Given the description of an element on the screen output the (x, y) to click on. 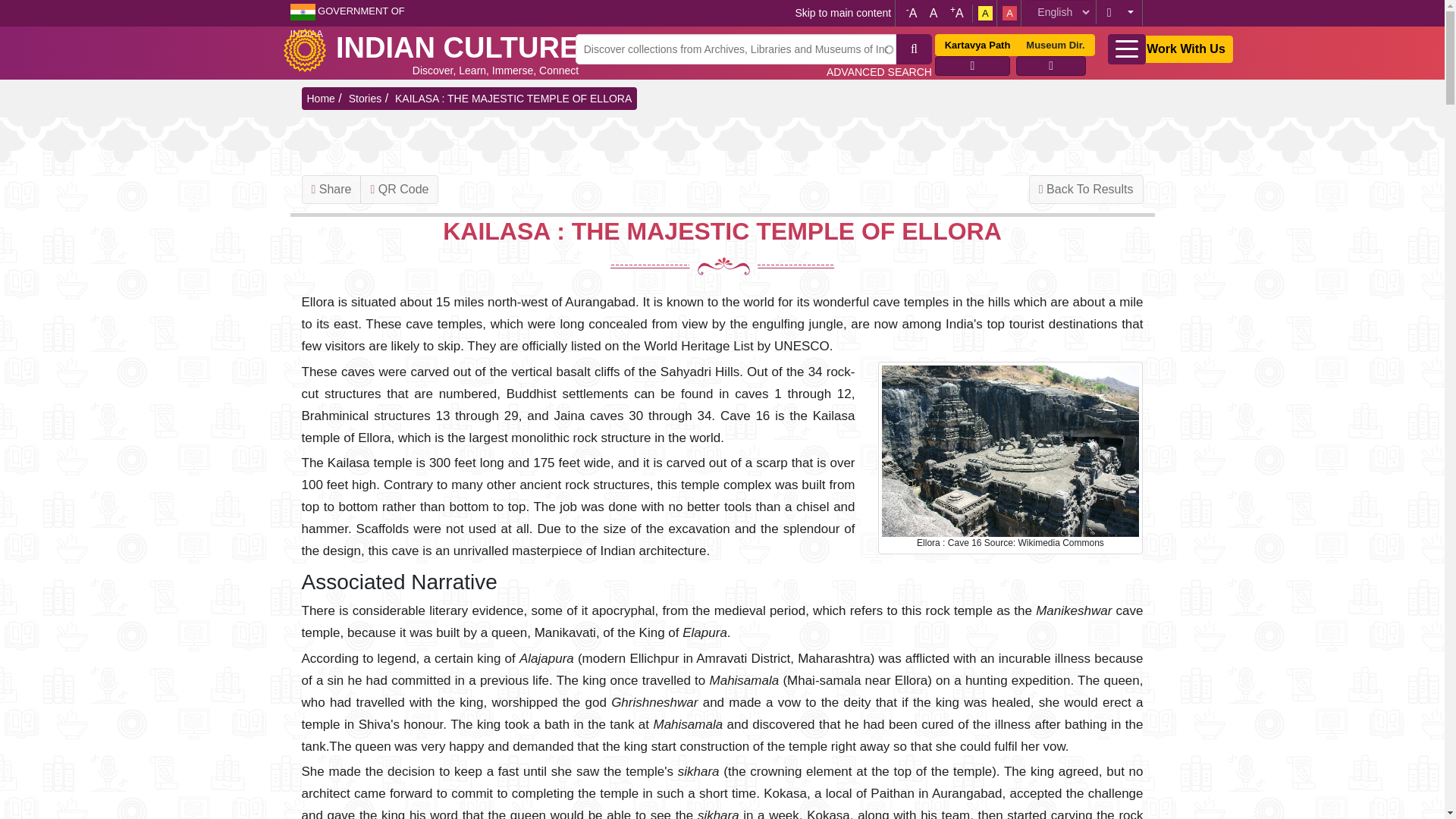
ADVANCED SEARCH (879, 71)
Home (309, 47)
Share (331, 189)
Work With Us (1185, 49)
Stories (365, 98)
A (933, 11)
Back To Results (1085, 189)
Kartavya Path (977, 45)
Museum Dir. (1055, 45)
Skip to main content (842, 12)
KAILASA : THE MAJESTIC TEMPLE OF ELLORA (512, 98)
INDIAN CULTURE (457, 47)
Home (457, 47)
QR Code (398, 189)
